Given the description of an element on the screen output the (x, y) to click on. 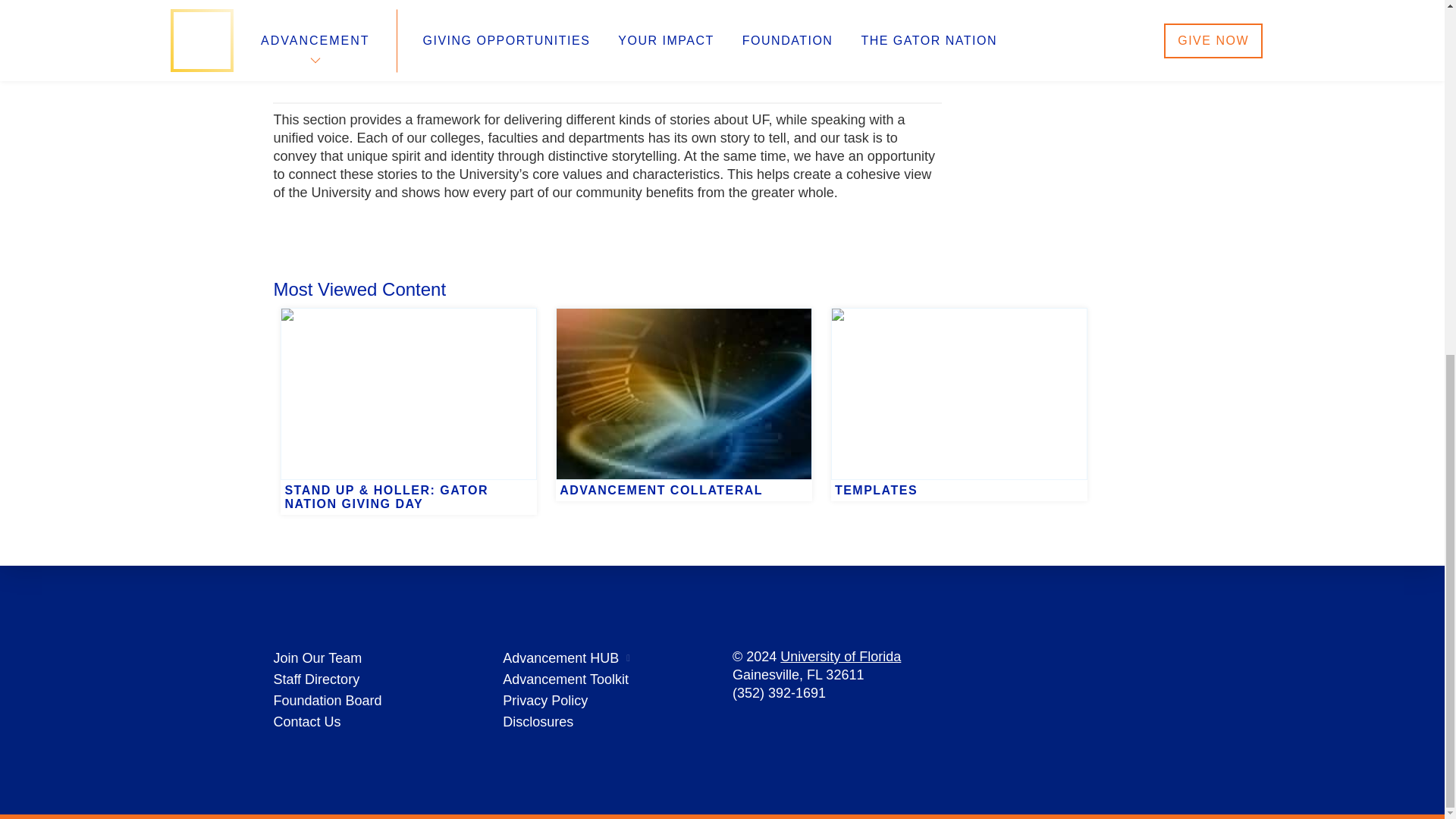
LANGUAGE (740, 62)
Foundation Board (327, 700)
Advancement HUB (560, 657)
Privacy Policy (545, 700)
Staff Directory (316, 679)
Join Our Team (317, 657)
Disclosures (537, 721)
TEMPLATES (959, 307)
Advancement Toolkit (565, 679)
ADVANCEMENT COLLATERAL (683, 307)
